Given the description of an element on the screen output the (x, y) to click on. 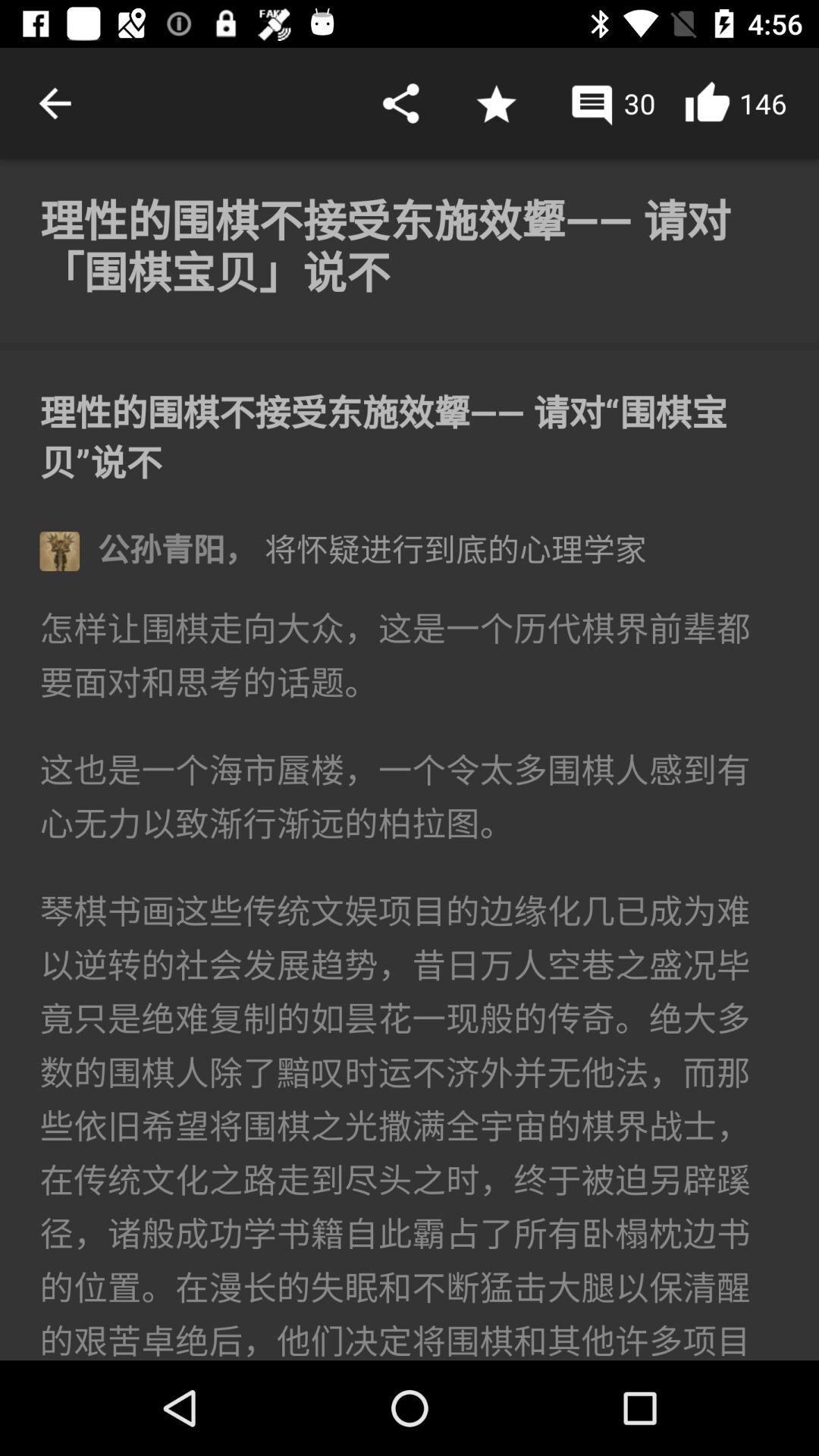
visible instructions (409, 759)
